Given the description of an element on the screen output the (x, y) to click on. 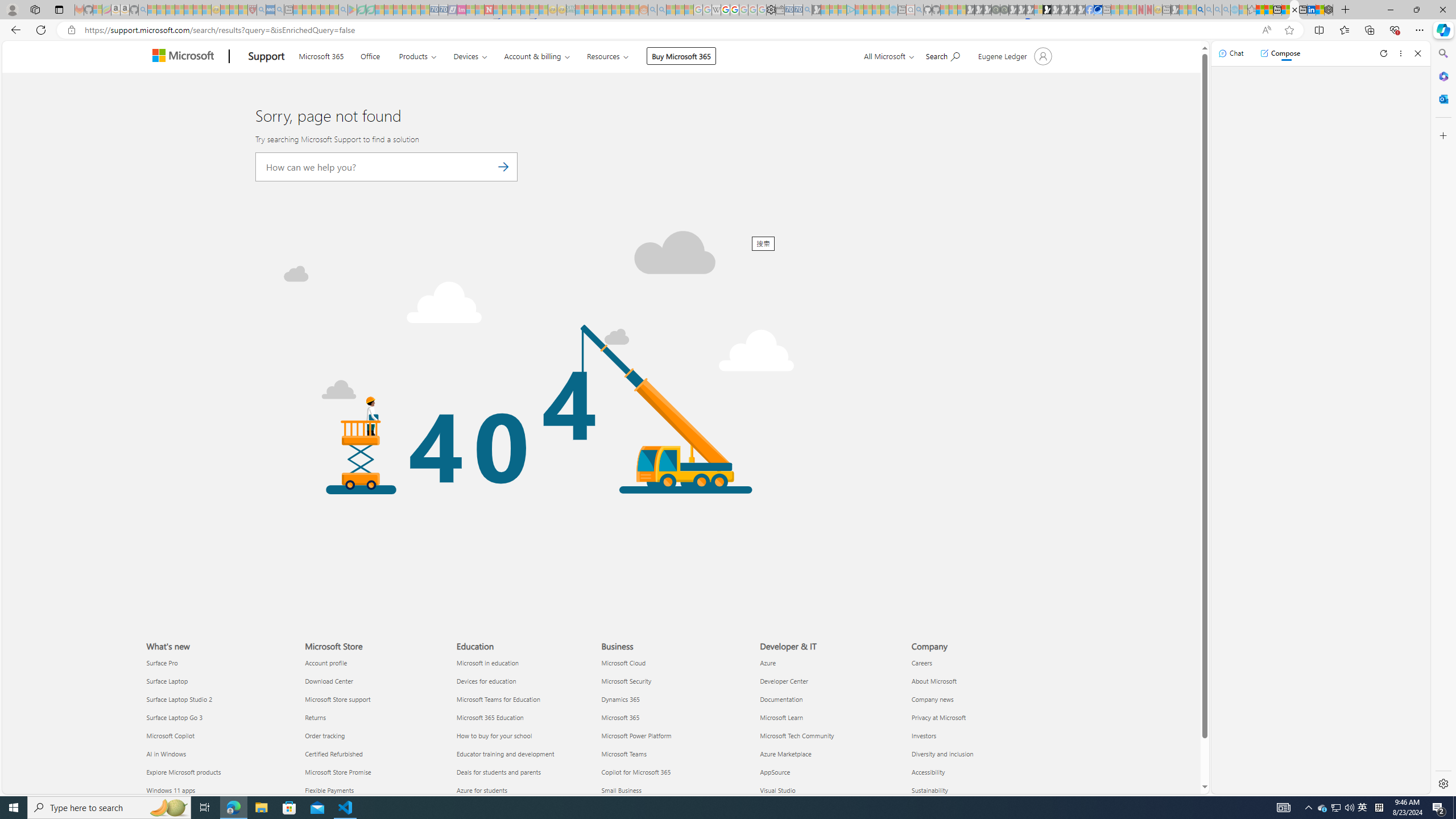
Small Business (673, 789)
Nordace | Facebook - Sleeping (1089, 9)
Pets - MSN - Sleeping (324, 9)
Future Focus Report 2024 - Sleeping (1004, 9)
Explore Microsoft products (218, 771)
Favorites - Sleeping (1251, 9)
Surface Laptop Go 3 What's new (173, 716)
DITOGAMES AG Imprint - Sleeping (570, 9)
